Given the description of an element on the screen output the (x, y) to click on. 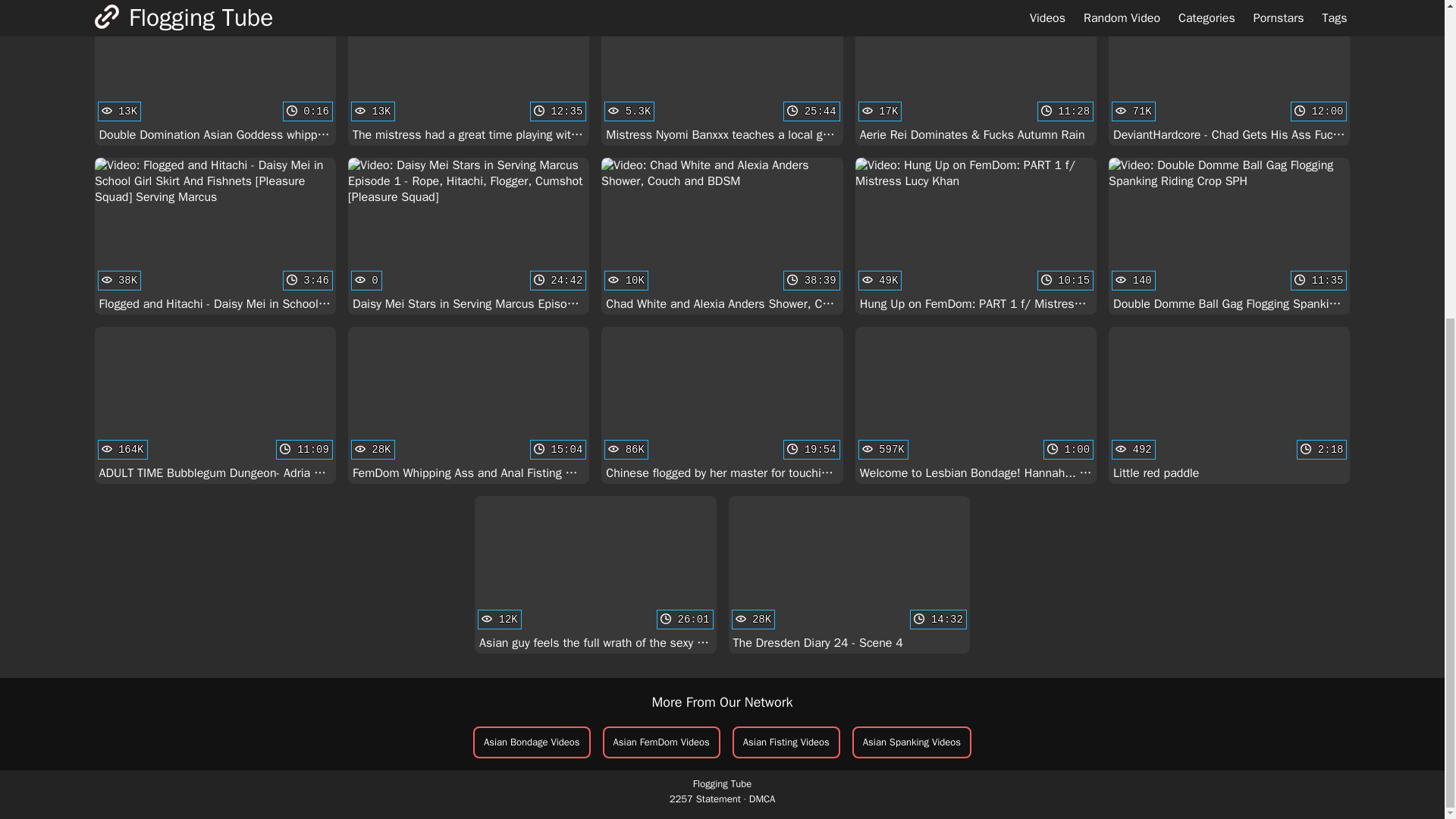
Asian FemDom Videos (722, 405)
Asian Fisting Videos (661, 742)
Double Domme Ball Gag Flogging Spanking Riding Crop SPH (215, 405)
Asian Spanking Videos (786, 742)
